Given the description of an element on the screen output the (x, y) to click on. 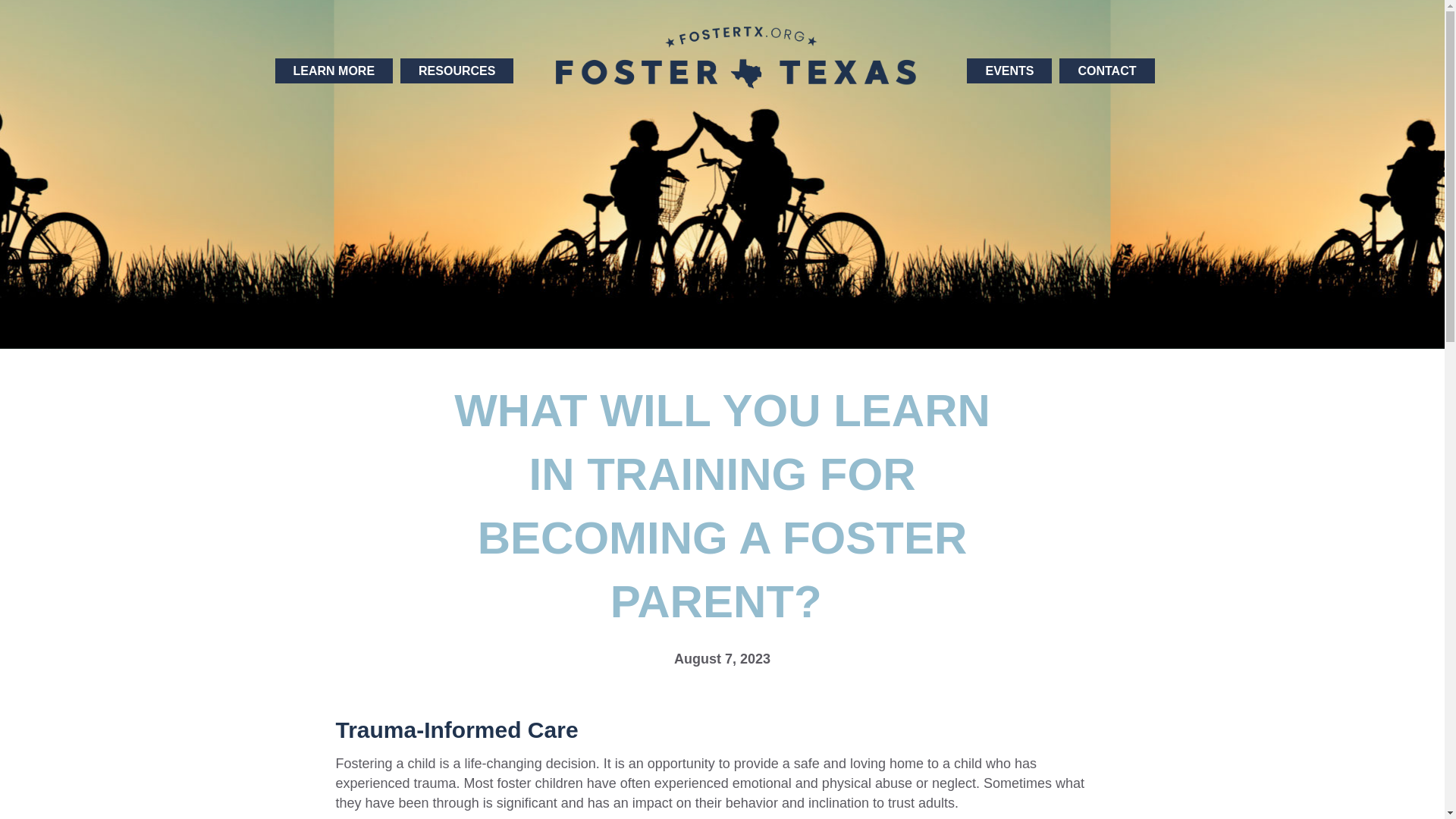
logo-foster-texas (735, 57)
RESOURCES (456, 70)
EVENTS (1008, 70)
CONTACT (1106, 70)
LEARN MORE (334, 70)
